Given the description of an element on the screen output the (x, y) to click on. 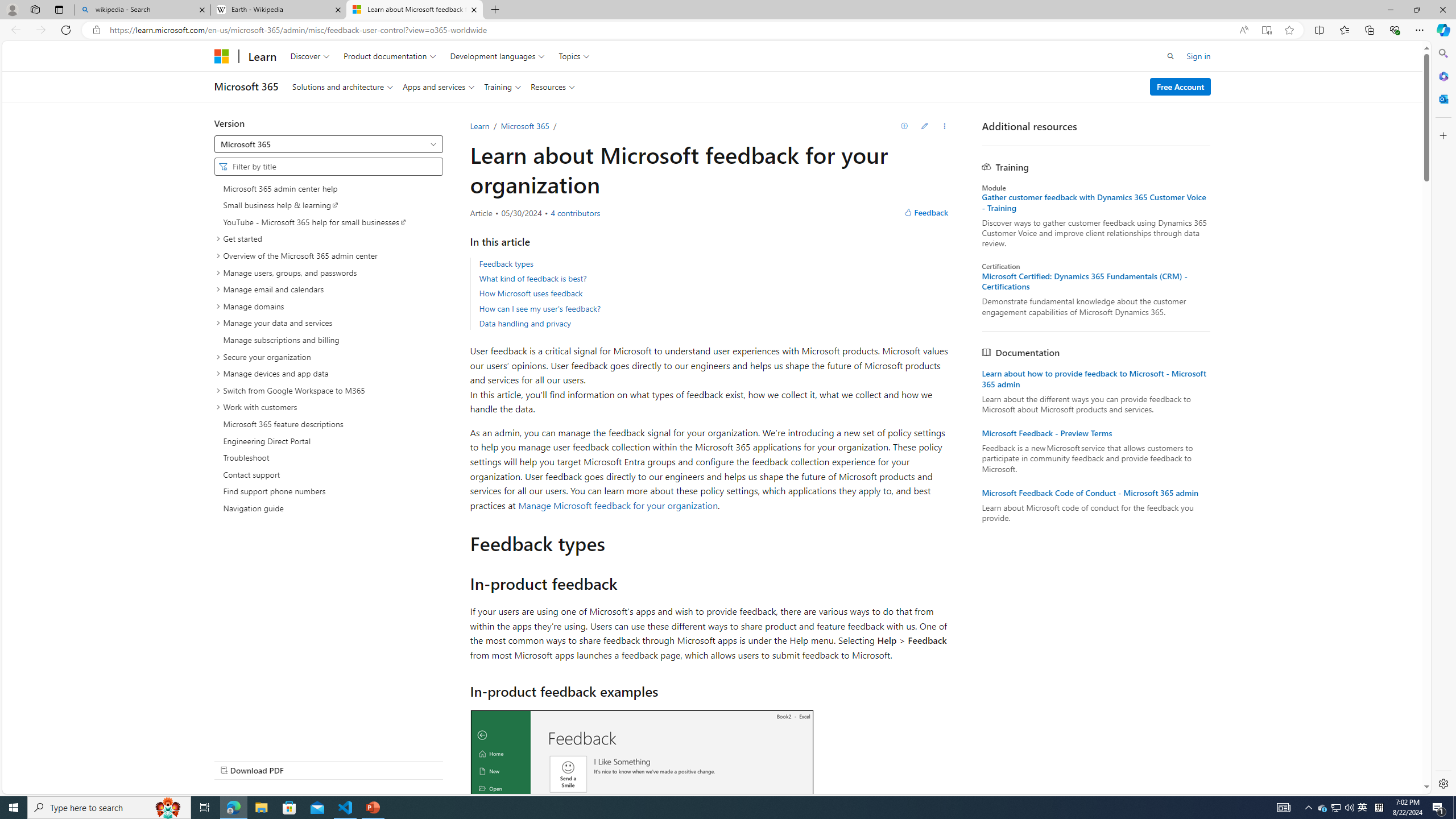
Microsoft Feedback - Preview Terms (1096, 433)
Collections (1369, 29)
Microsoft Feedback Code of Conduct - Microsoft 365 admin (1096, 492)
Settings and more (Alt+F) (1419, 29)
Solutions and architecture (341, 86)
Discover (309, 55)
Data handling and privacy (524, 322)
Tab actions menu (58, 9)
Open search (1170, 55)
Feedback types (505, 262)
wikipedia - Search (142, 9)
Workspaces (34, 9)
